Given the description of an element on the screen output the (x, y) to click on. 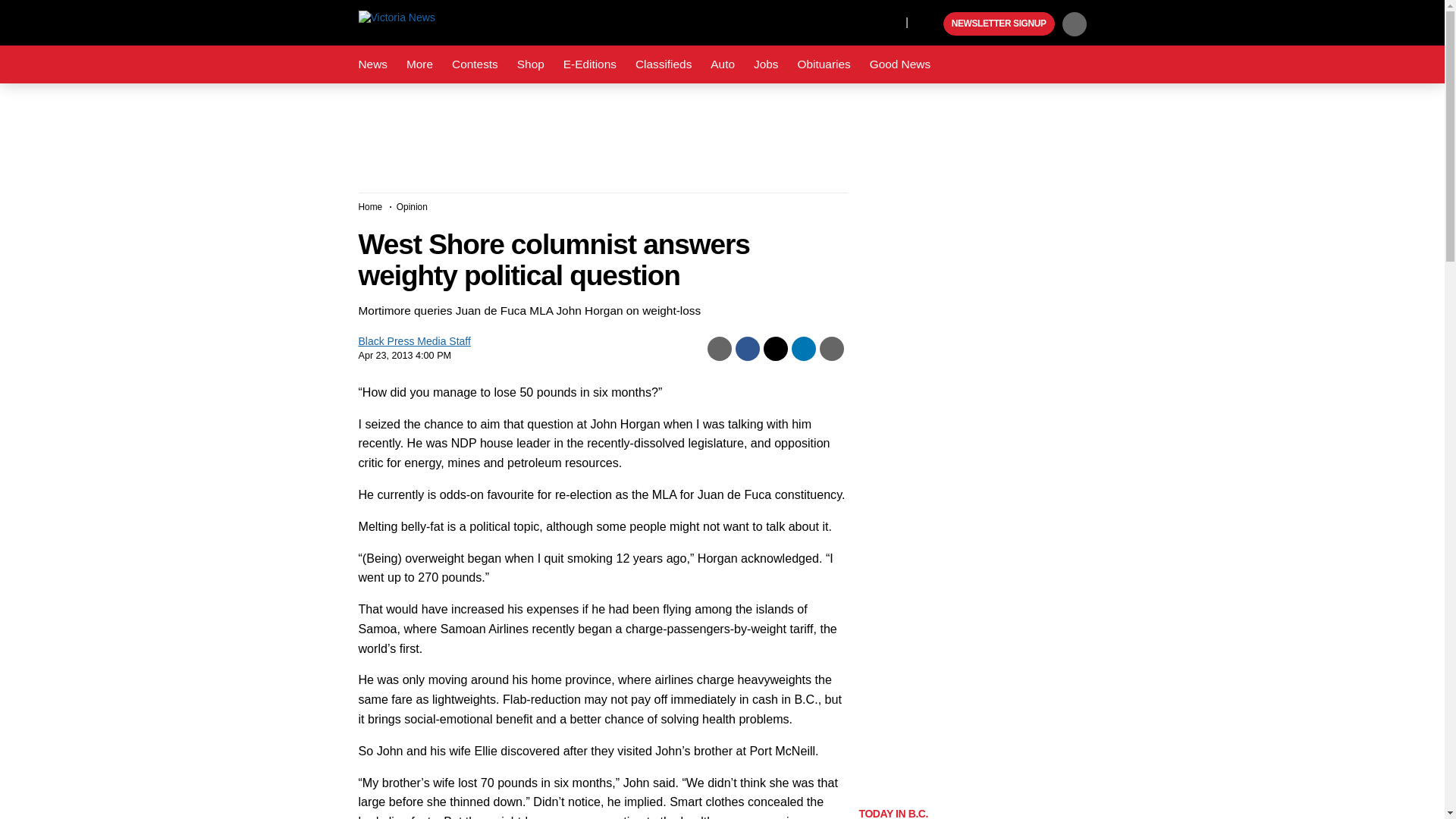
NEWSLETTER SIGNUP (998, 24)
X (889, 21)
Black Press Media (929, 24)
Play (929, 24)
News (372, 64)
